Given the description of an element on the screen output the (x, y) to click on. 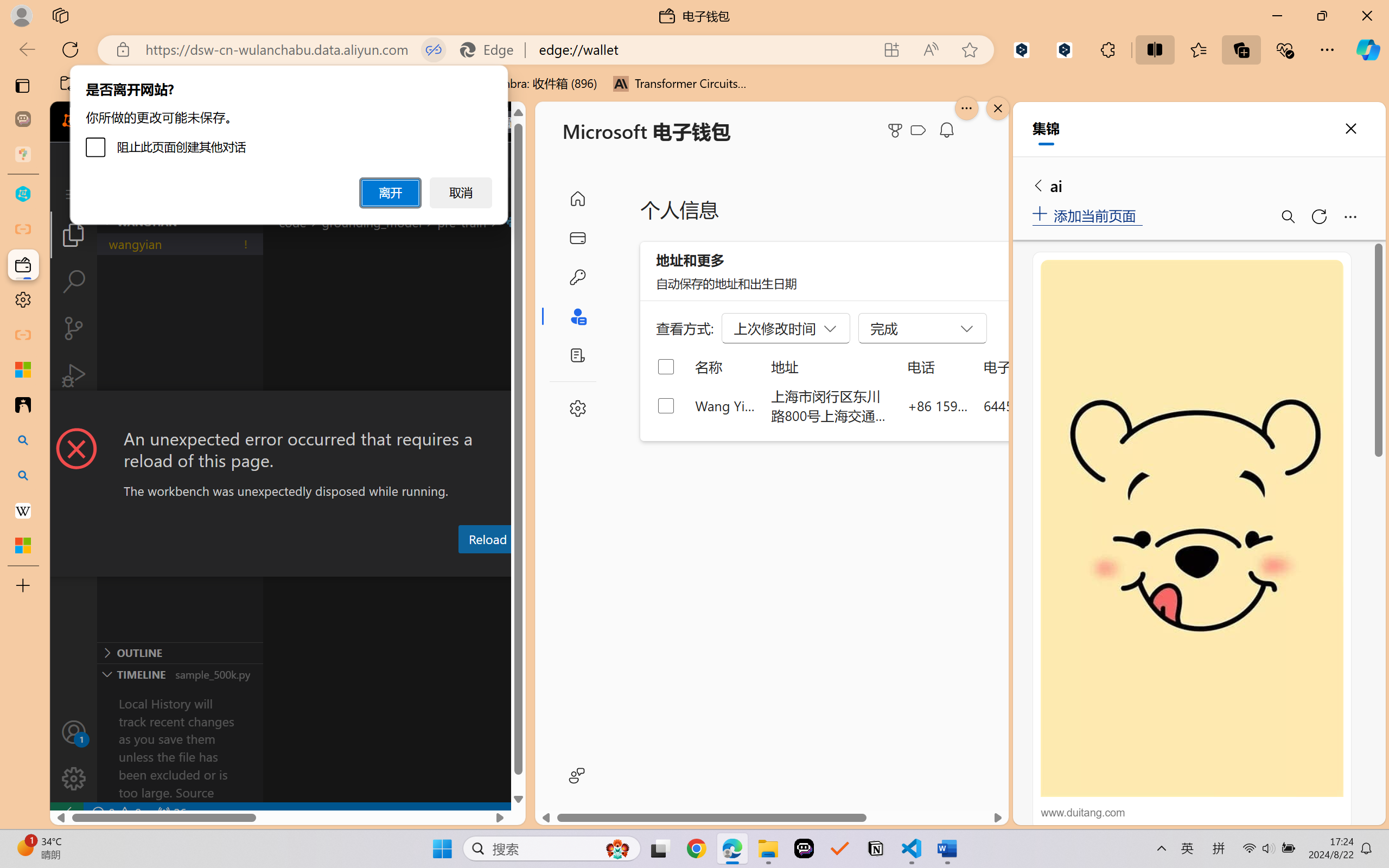
Microsoft Cashback (920, 130)
No Problems (115, 812)
Google Chrome (696, 848)
